Given the description of an element on the screen output the (x, y) to click on. 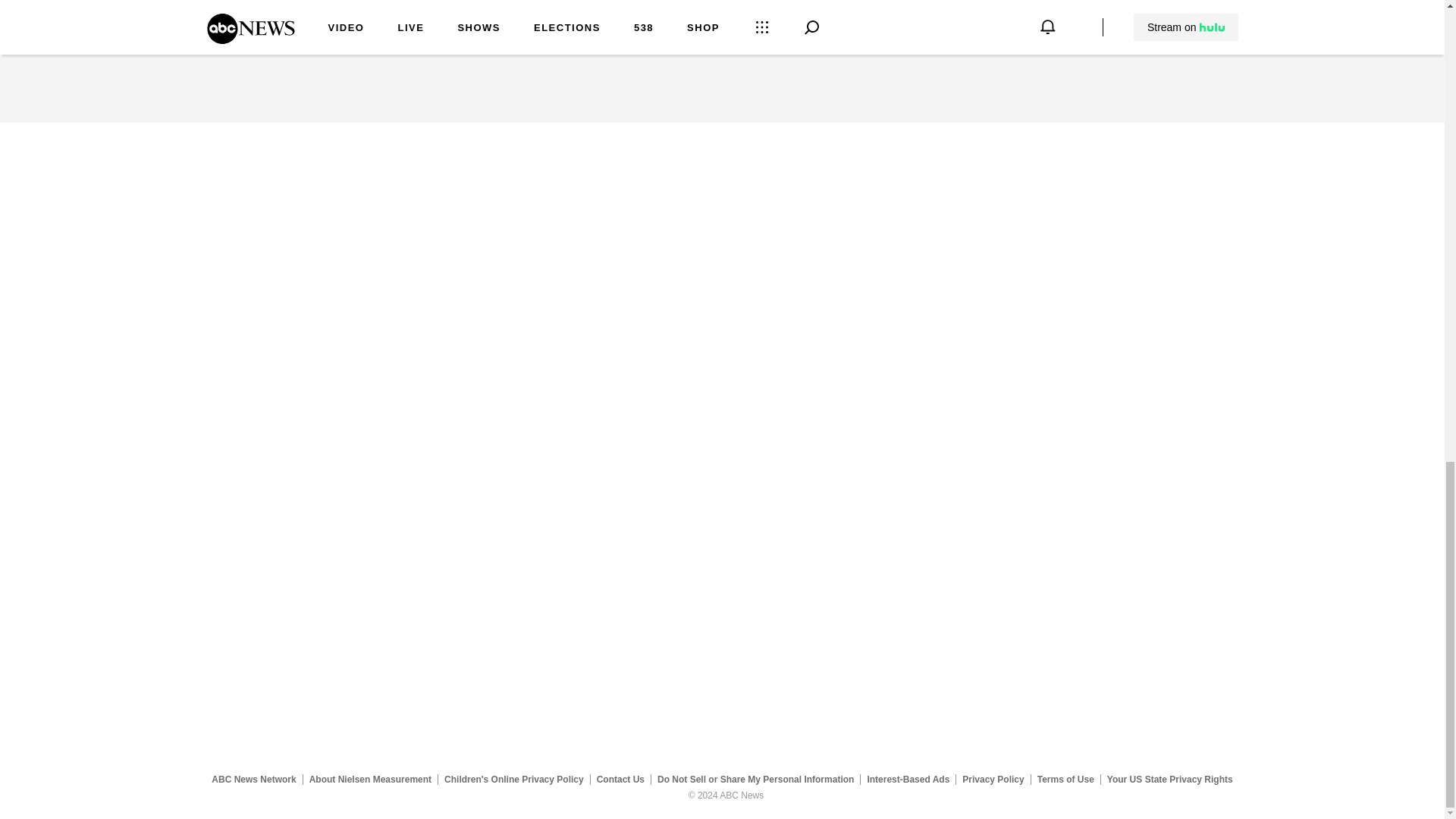
Children's Online Privacy Policy (514, 778)
Contact Us (620, 778)
About Nielsen Measurement (370, 778)
ABC News Network (253, 778)
Your US State Privacy Rights (1169, 778)
Do Not Sell or Share My Personal Information (755, 778)
Interest-Based Ads (908, 778)
Terms of Use (1065, 778)
Privacy Policy (993, 778)
